Given the description of an element on the screen output the (x, y) to click on. 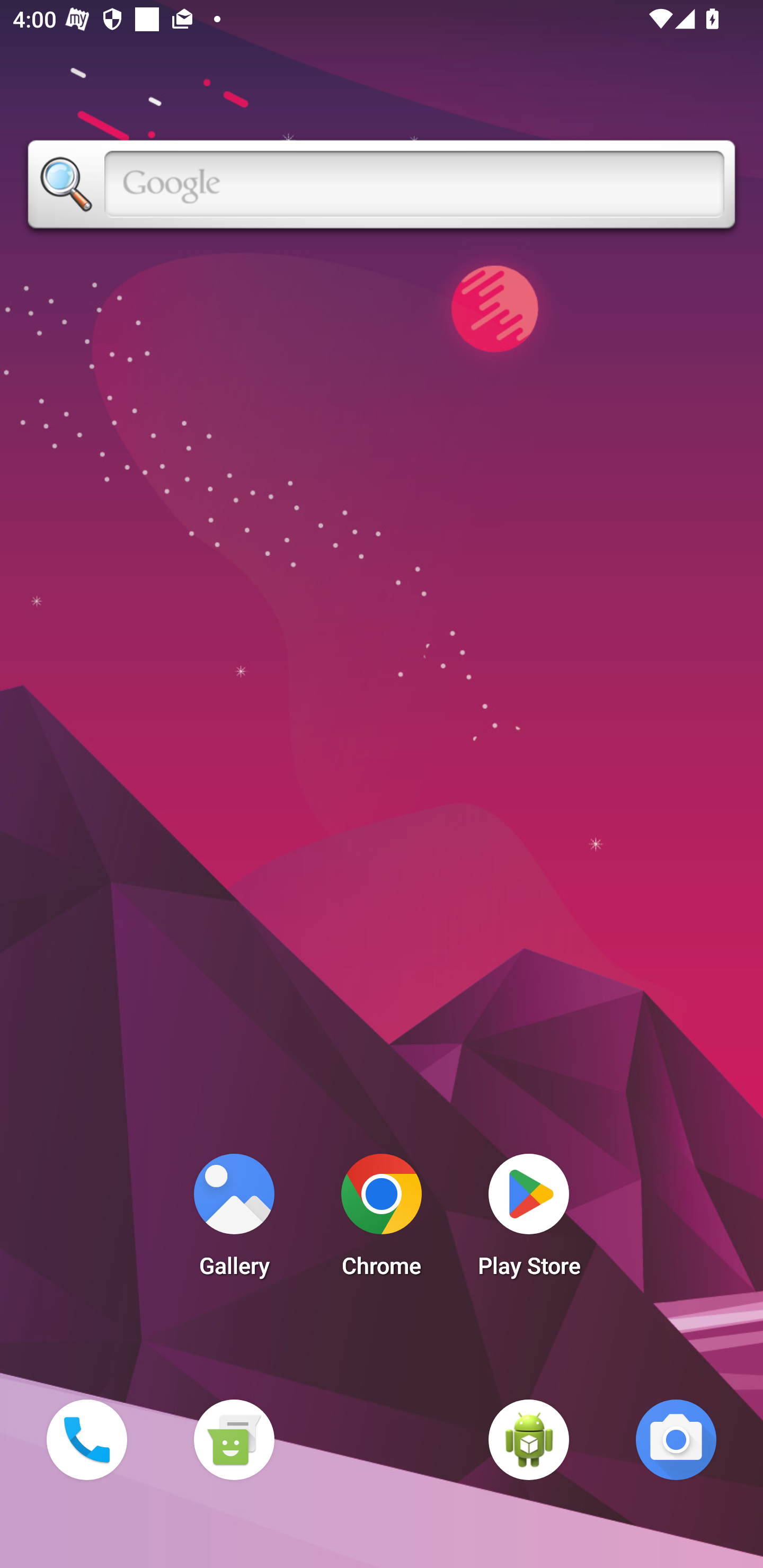
Gallery (233, 1220)
Chrome (381, 1220)
Play Store (528, 1220)
Phone (86, 1439)
Messaging (233, 1439)
WebView Browser Tester (528, 1439)
Camera (676, 1439)
